Given the description of an element on the screen output the (x, y) to click on. 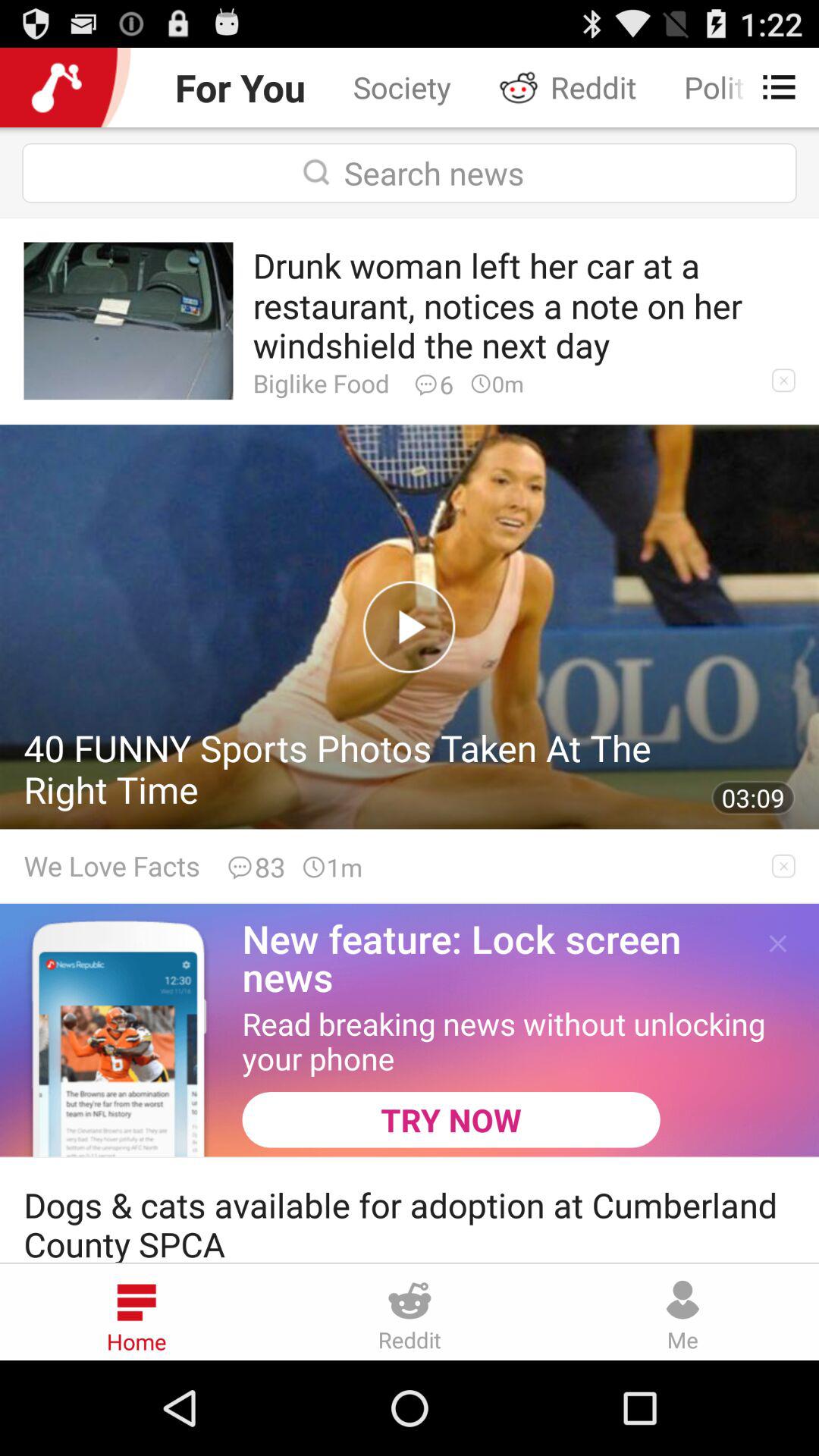
select icon above the dogs cats available item (451, 1119)
